Given the description of an element on the screen output the (x, y) to click on. 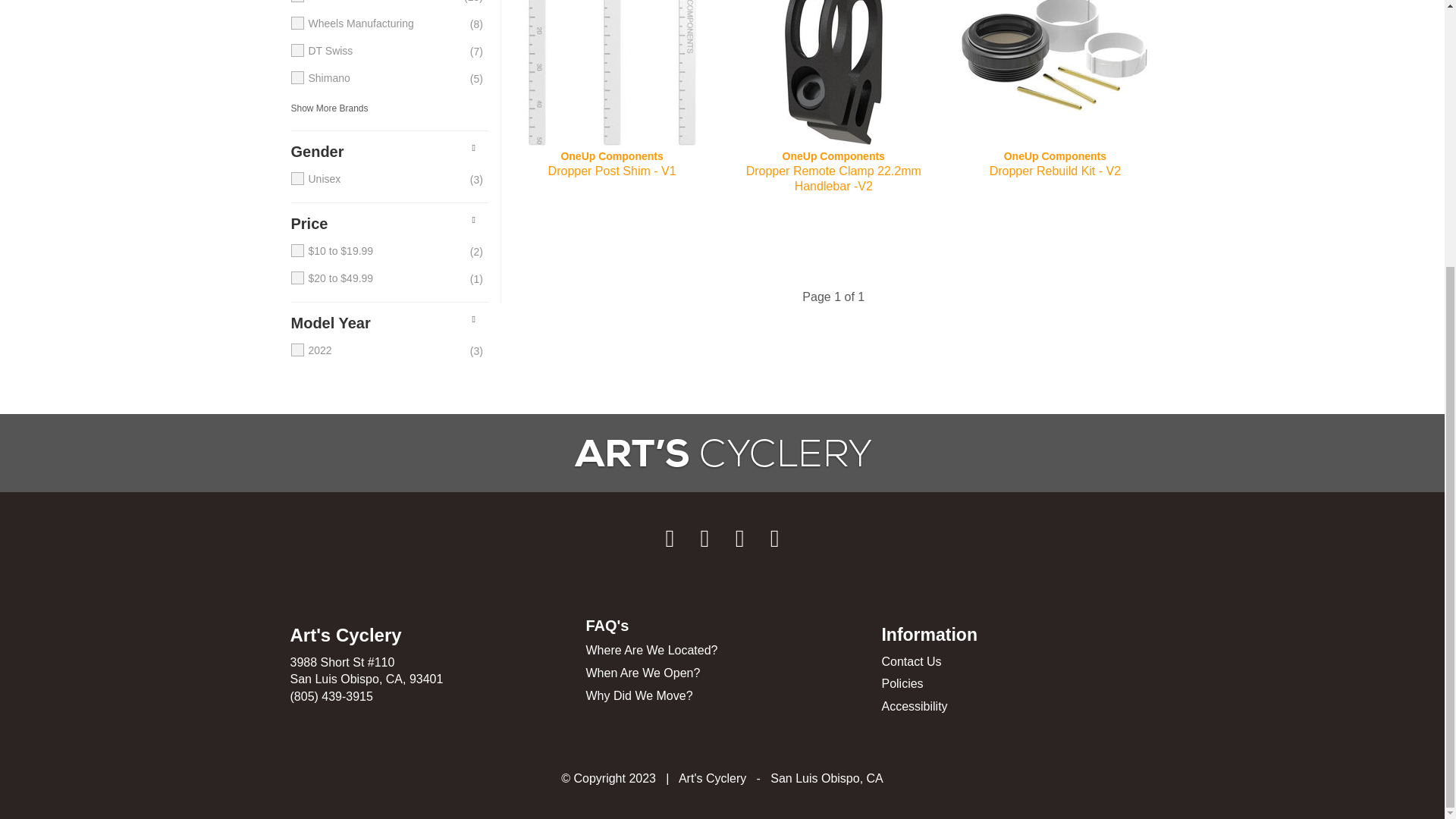
OneUp Components Dropper Rebuild Kit - V2 (1054, 74)
OneUp Components Dropper Remote Clamp 22.2mm Handlebar -V2 (833, 74)
OneUp Components Dropper Rebuild Kit - V2 (1054, 171)
OneUp Components Dropper Post Shim - V1 (611, 74)
OneUp Components Dropper Post Shim - V1 (611, 171)
OneUp Components Dropper Remote Clamp 22.2mm Handlebar -V2 (833, 171)
